Given the description of an element on the screen output the (x, y) to click on. 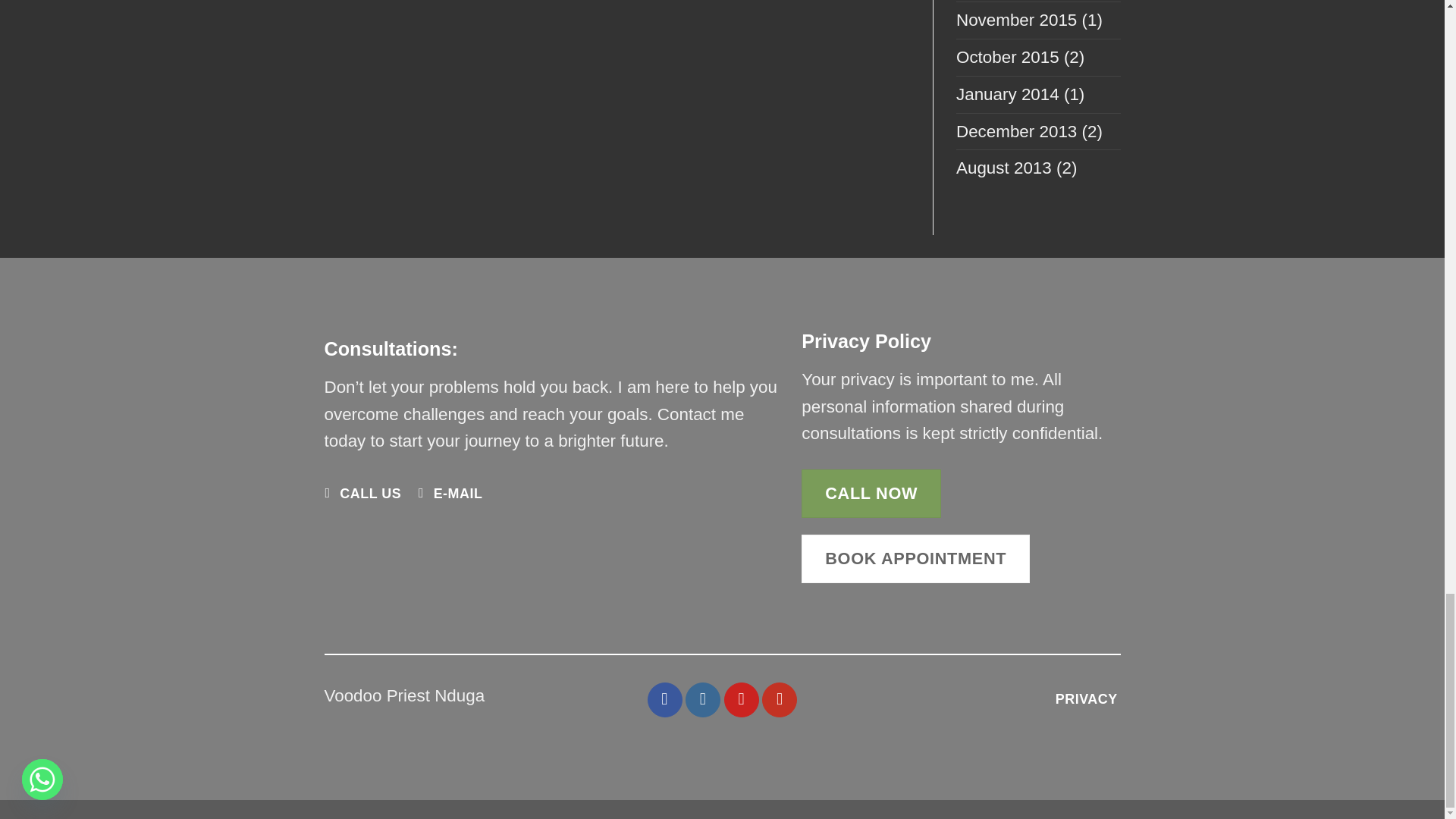
Follow on Pinterest (740, 699)
Follow on Instagram (702, 699)
Follow on Facebook (664, 699)
Follow on YouTube (778, 699)
